Given the description of an element on the screen output the (x, y) to click on. 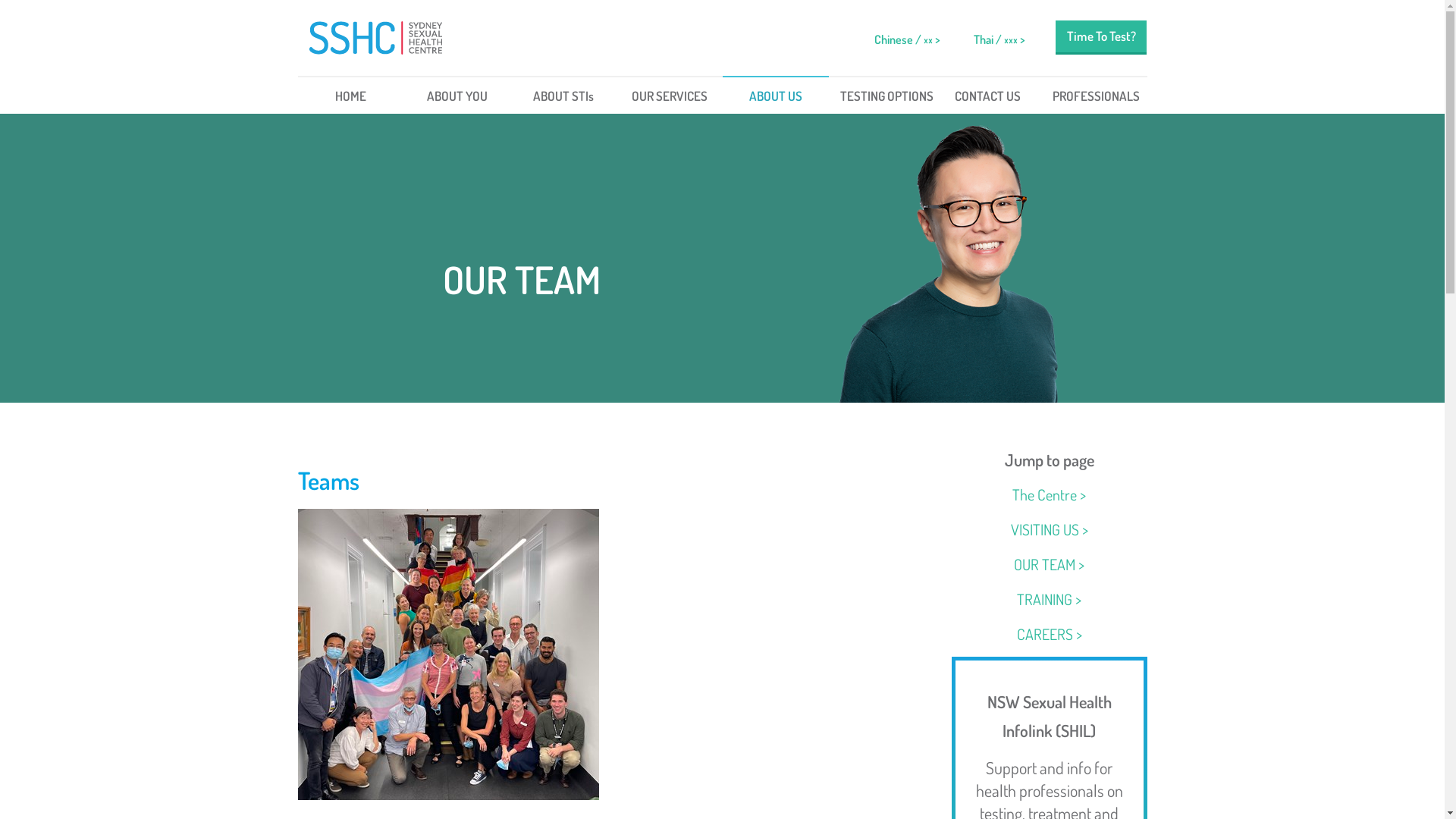
CONTACT US Element type: text (987, 94)
ABOUT YOU Element type: text (456, 94)
ABOUT STIs Element type: text (562, 94)
Time To Test? Element type: text (1100, 36)
TRAINING > Element type: text (1048, 598)
HOME Element type: text (350, 94)
TESTING OPTIONS Element type: text (881, 94)
PROFESSIONALS Element type: text (1093, 94)
VISITING US > Element type: text (1049, 528)
OUR TEAM > Element type: text (1048, 563)
OUR SERVICES Element type: text (668, 94)
CAREERS > Element type: text (1049, 633)
ABOUT US Element type: text (774, 94)
The Centre > Element type: text (1048, 494)
